Given the description of an element on the screen output the (x, y) to click on. 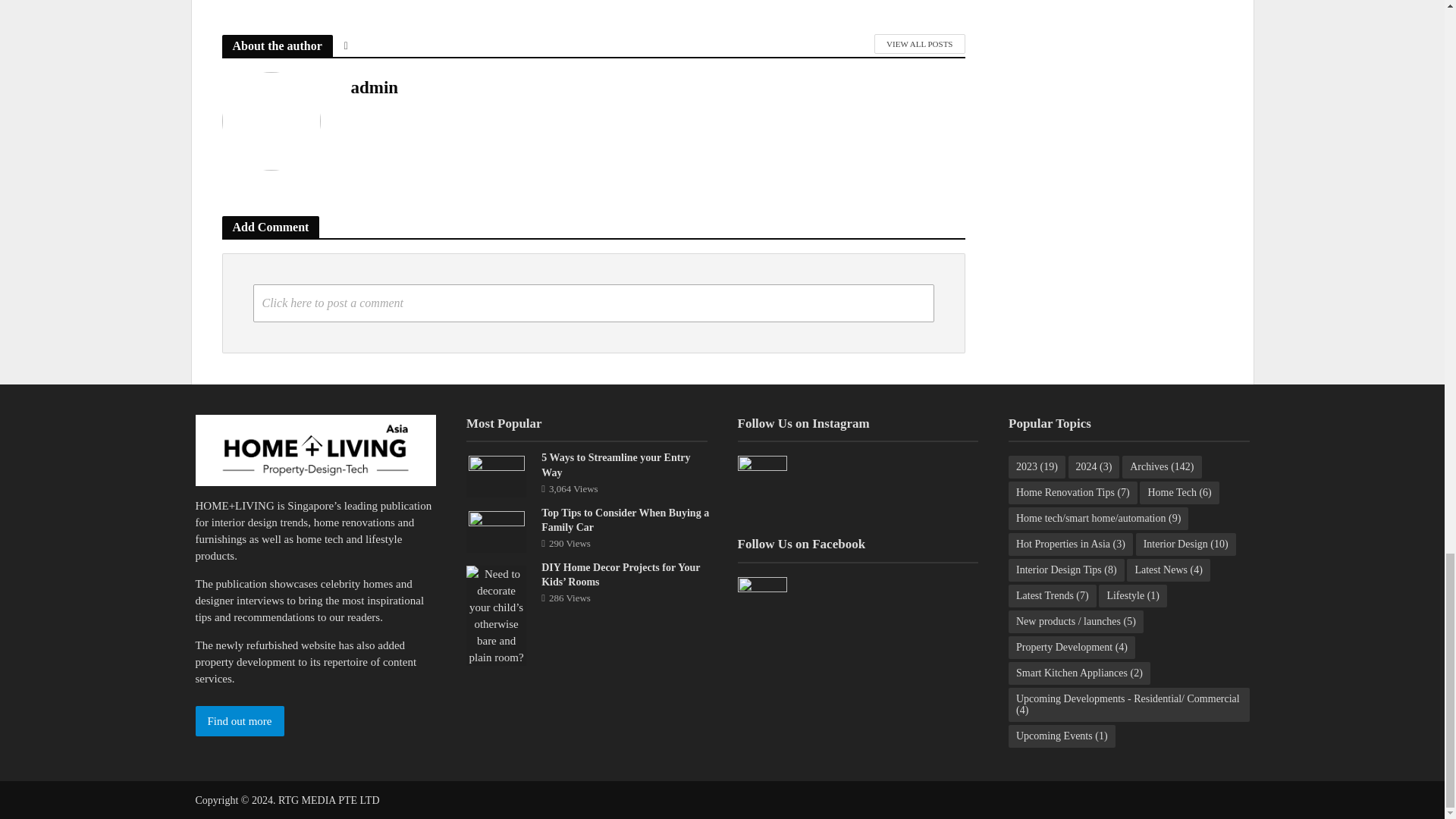
Follow Us on Facebook (761, 601)
5 Ways to Streamline your Entry Way (496, 475)
Follow Us on Instagram (761, 480)
Top Tips to Consider When Buying a Family Car (496, 530)
